Given the description of an element on the screen output the (x, y) to click on. 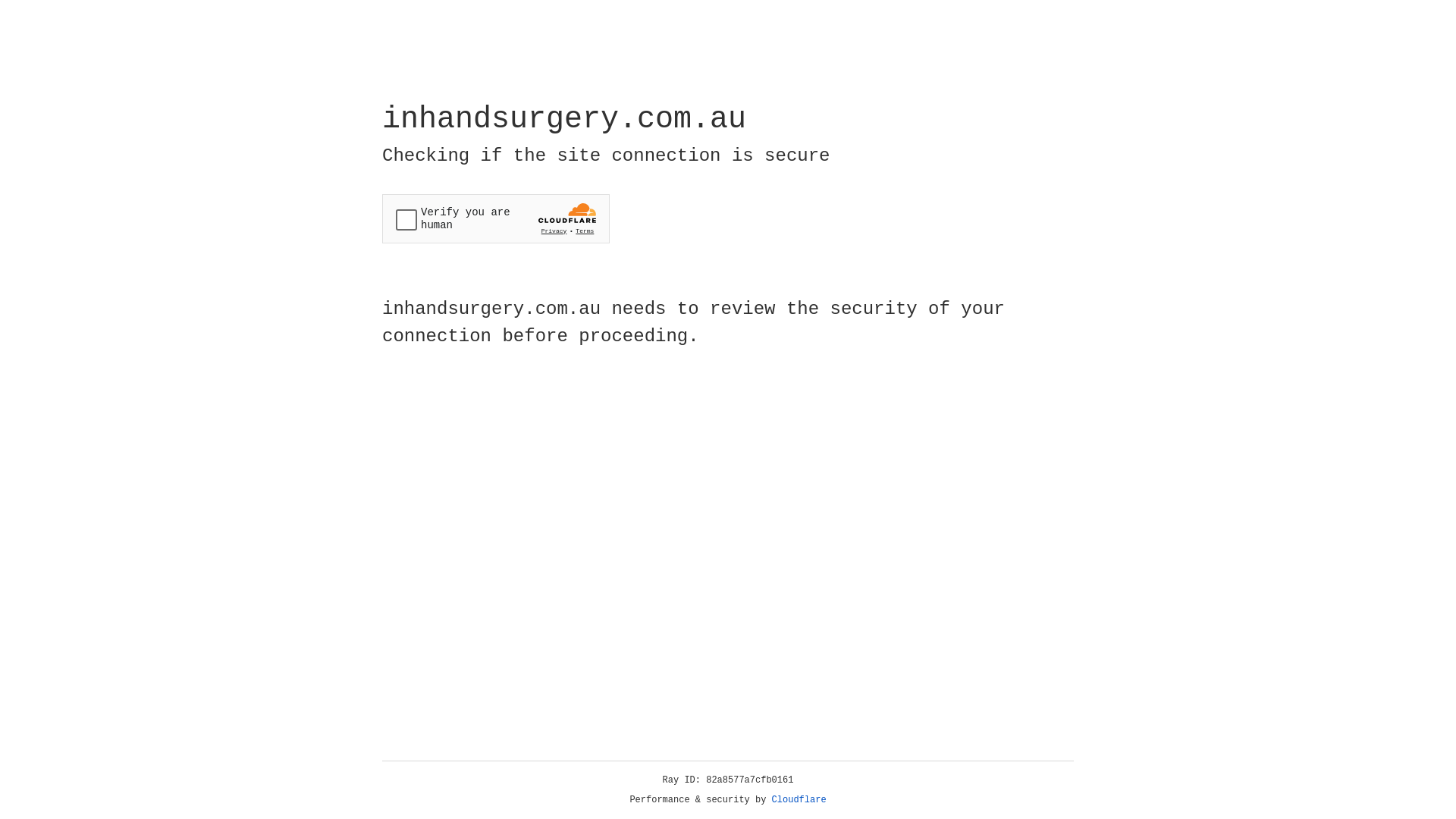
Widget containing a Cloudflare security challenge Element type: hover (495, 218)
Cloudflare Element type: text (798, 799)
